Given the description of an element on the screen output the (x, y) to click on. 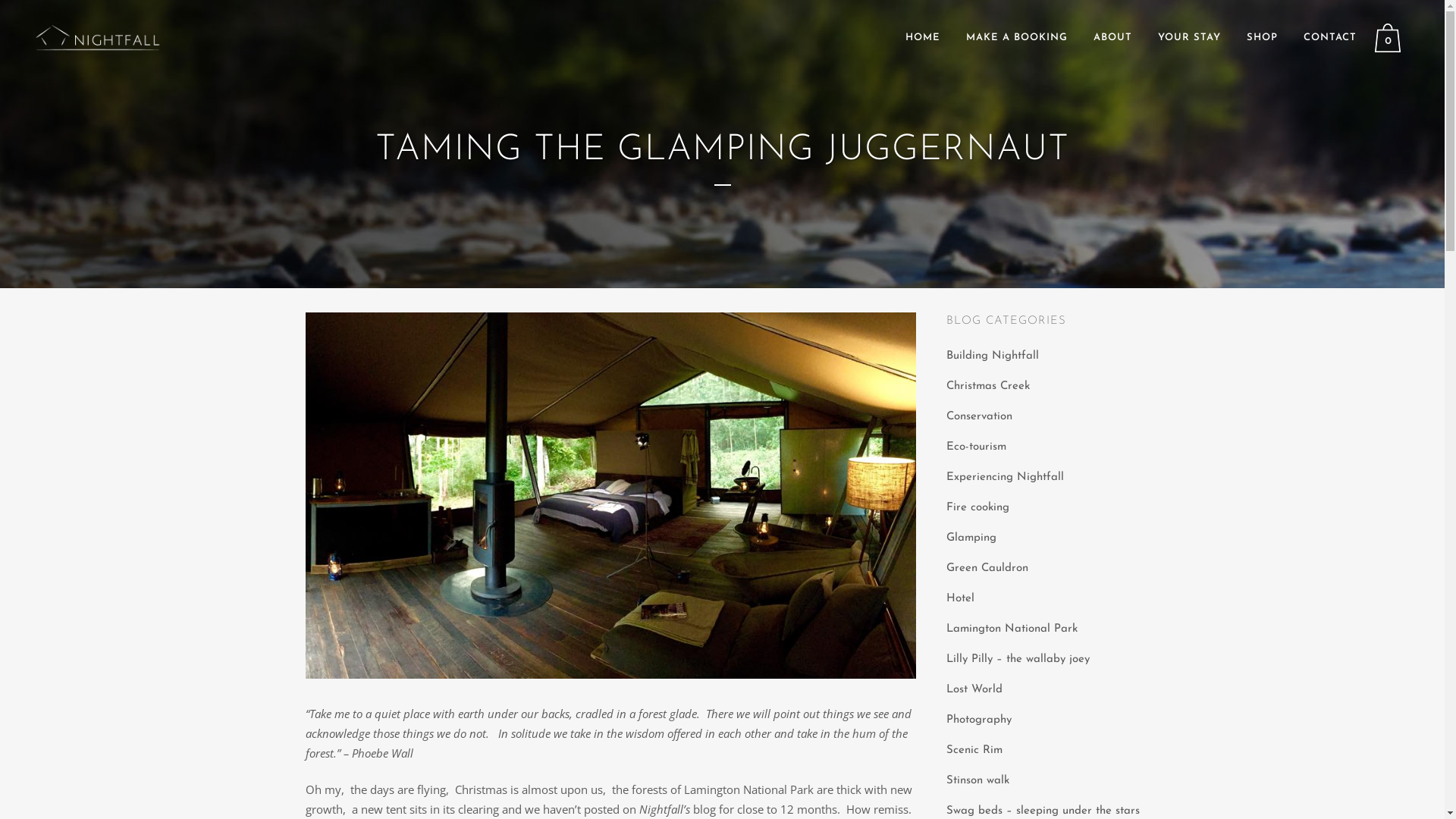
Eco-tourism Element type: text (976, 446)
Scenic Rim Element type: text (974, 750)
SHOP Element type: text (1261, 37)
Fire cooking Element type: text (977, 507)
Conservation Element type: text (979, 416)
0 Element type: text (1390, 37)
Hotel Element type: text (960, 598)
Green Cauldron Element type: text (987, 568)
Lamington National Park Element type: text (1011, 628)
ABOUT Element type: text (1112, 37)
Building Nightfall Element type: text (992, 355)
Christmas Creek Element type: text (987, 386)
MAKE A BOOKING Element type: text (1016, 37)
HOME Element type: text (922, 37)
Experiencing Nightfall Element type: text (1004, 477)
Lost World Element type: text (974, 689)
YOUR STAY Element type: text (1189, 37)
CONTACT Element type: text (1329, 37)
Photography Element type: text (978, 719)
Glamping Element type: text (971, 537)
Stinson walk Element type: text (977, 780)
